Given the description of an element on the screen output the (x, y) to click on. 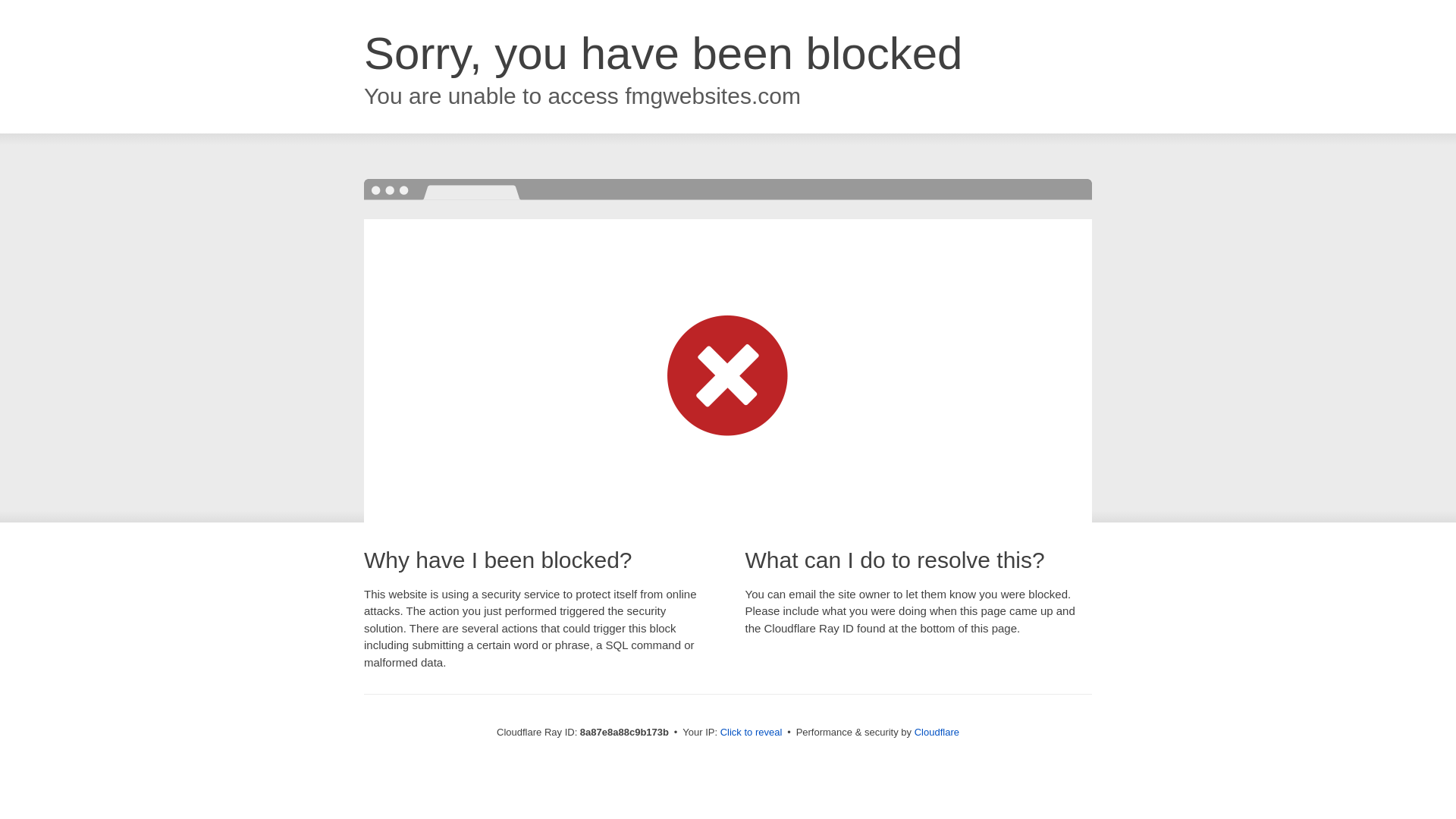
Cloudflare (936, 731)
Click to reveal (751, 732)
